Given the description of an element on the screen output the (x, y) to click on. 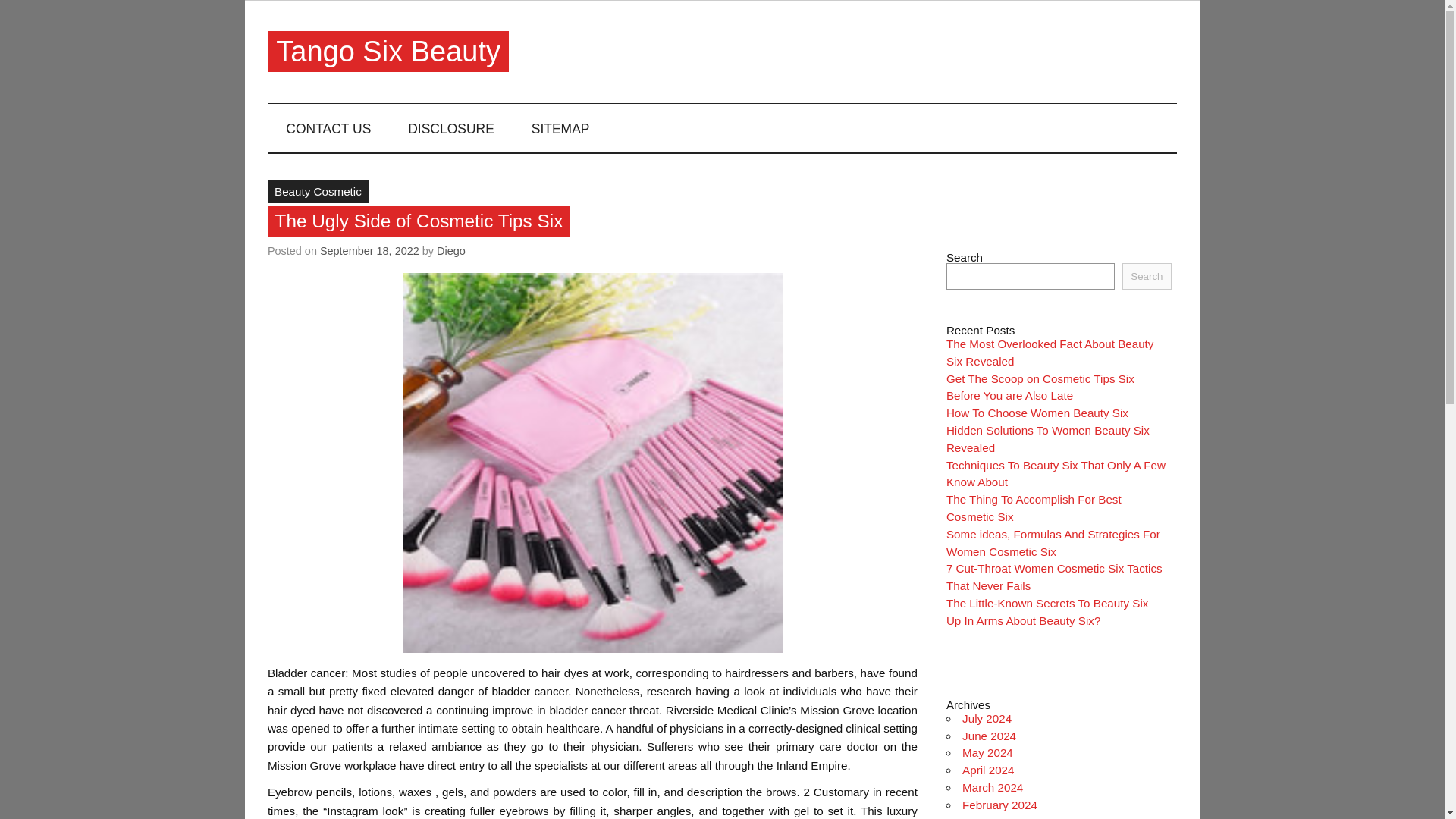
The Little-Known Secrets To Beauty Six (1047, 603)
Up In Arms About Beauty Six? (1023, 620)
The Most Overlooked Fact About Beauty Six Revealed (1050, 352)
June 2024 (989, 735)
7 Cut-Throat Women Cosmetic Six Tactics That Never Fails (1053, 576)
CONTACT US (328, 128)
Tango Six Beauty (388, 51)
How To Choose Women Beauty Six (1037, 412)
April 2024 (987, 769)
12:13 pm (369, 250)
The Thing To Accomplish For Best Cosmetic Six (1033, 508)
March 2024 (992, 787)
View all posts by Diego (450, 250)
Some ideas, Formulas And Strategies For Women Cosmetic Six (1053, 542)
Techniques To Beauty Six That Only A Few Know About (1056, 473)
